Given the description of an element on the screen output the (x, y) to click on. 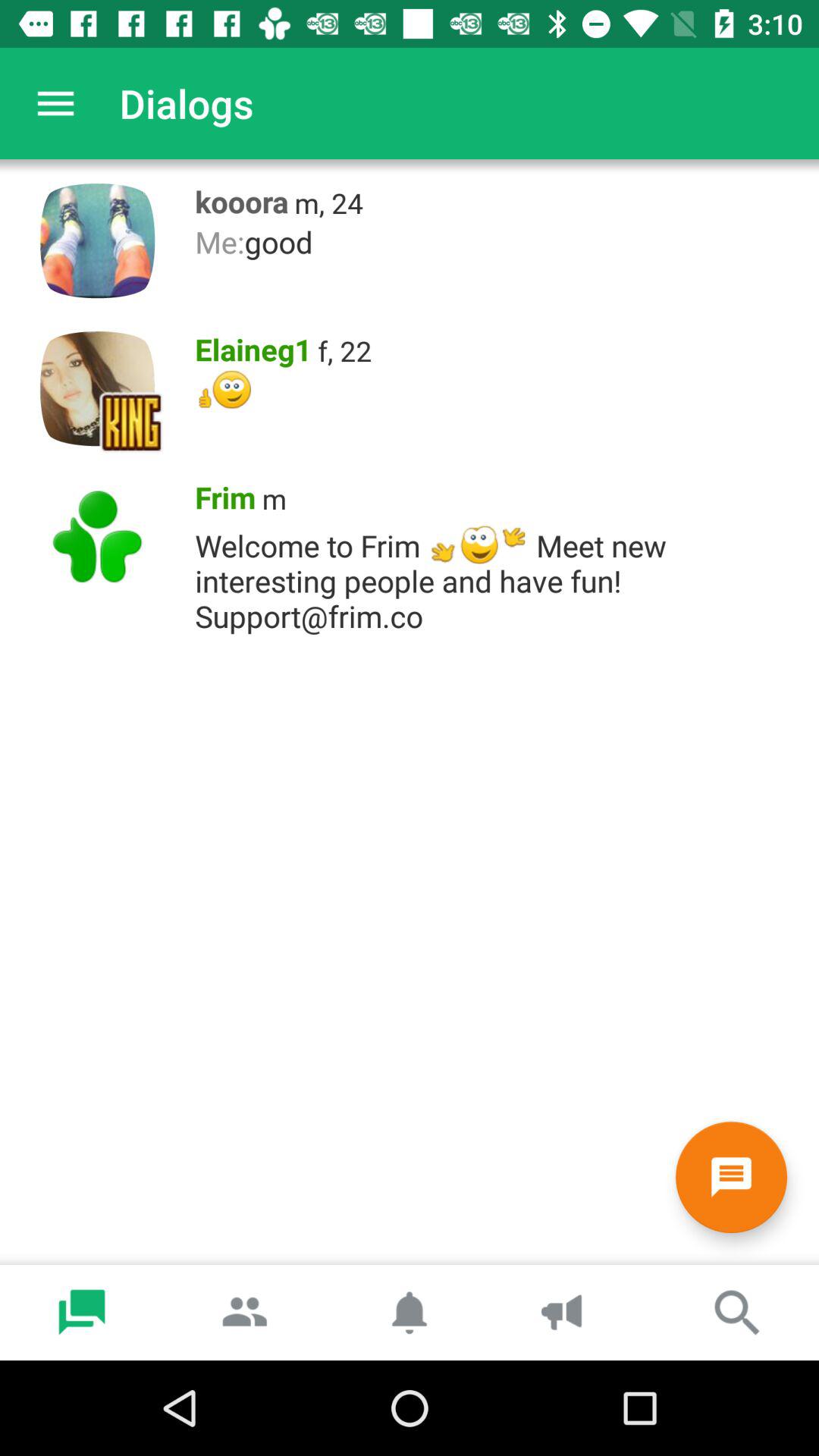
click on new message (731, 1177)
